Given the description of an element on the screen output the (x, y) to click on. 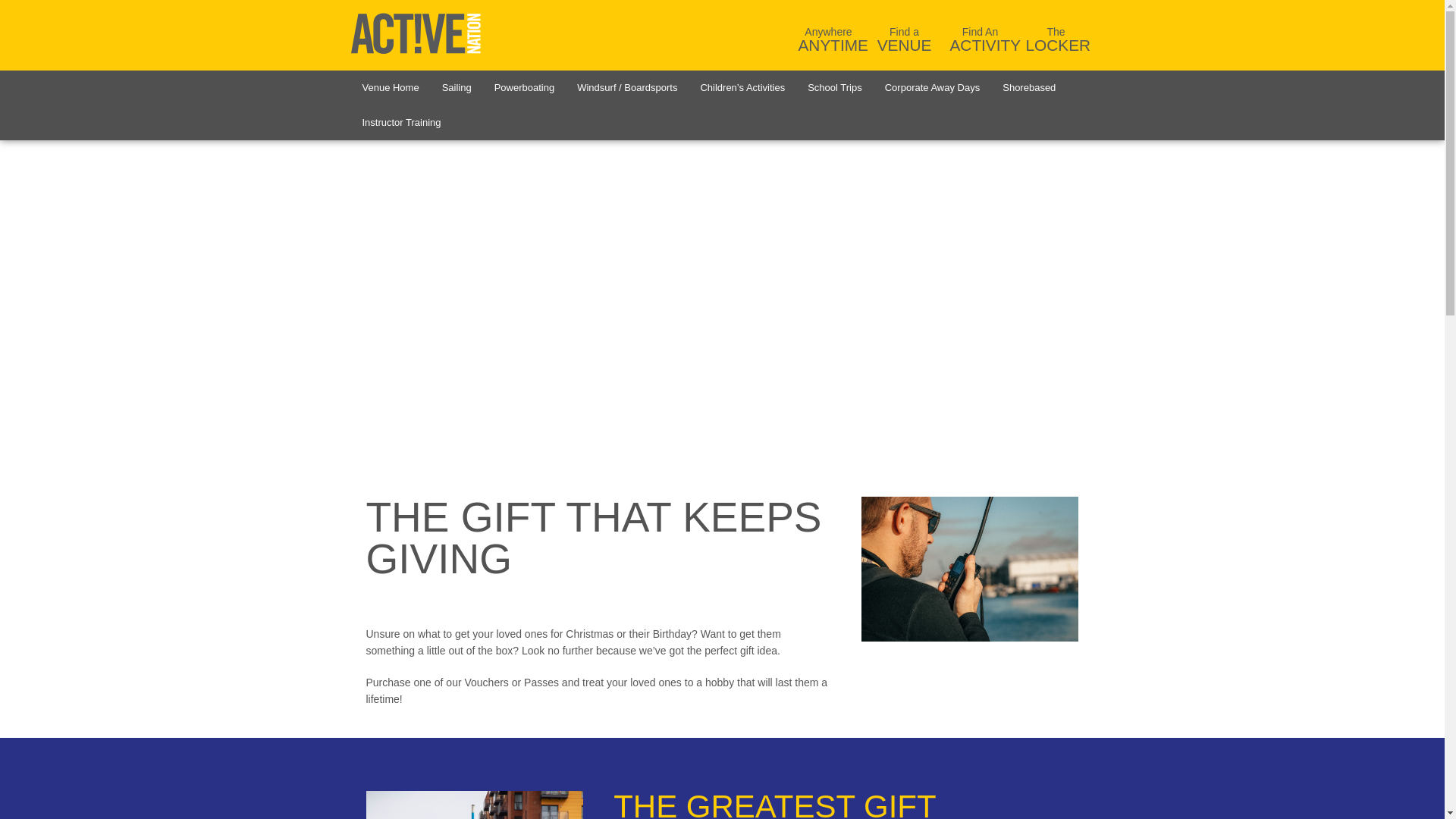
Sailing (456, 87)
Powerboating (524, 87)
Venue Home (389, 87)
School Trips (979, 35)
